Given the description of an element on the screen output the (x, y) to click on. 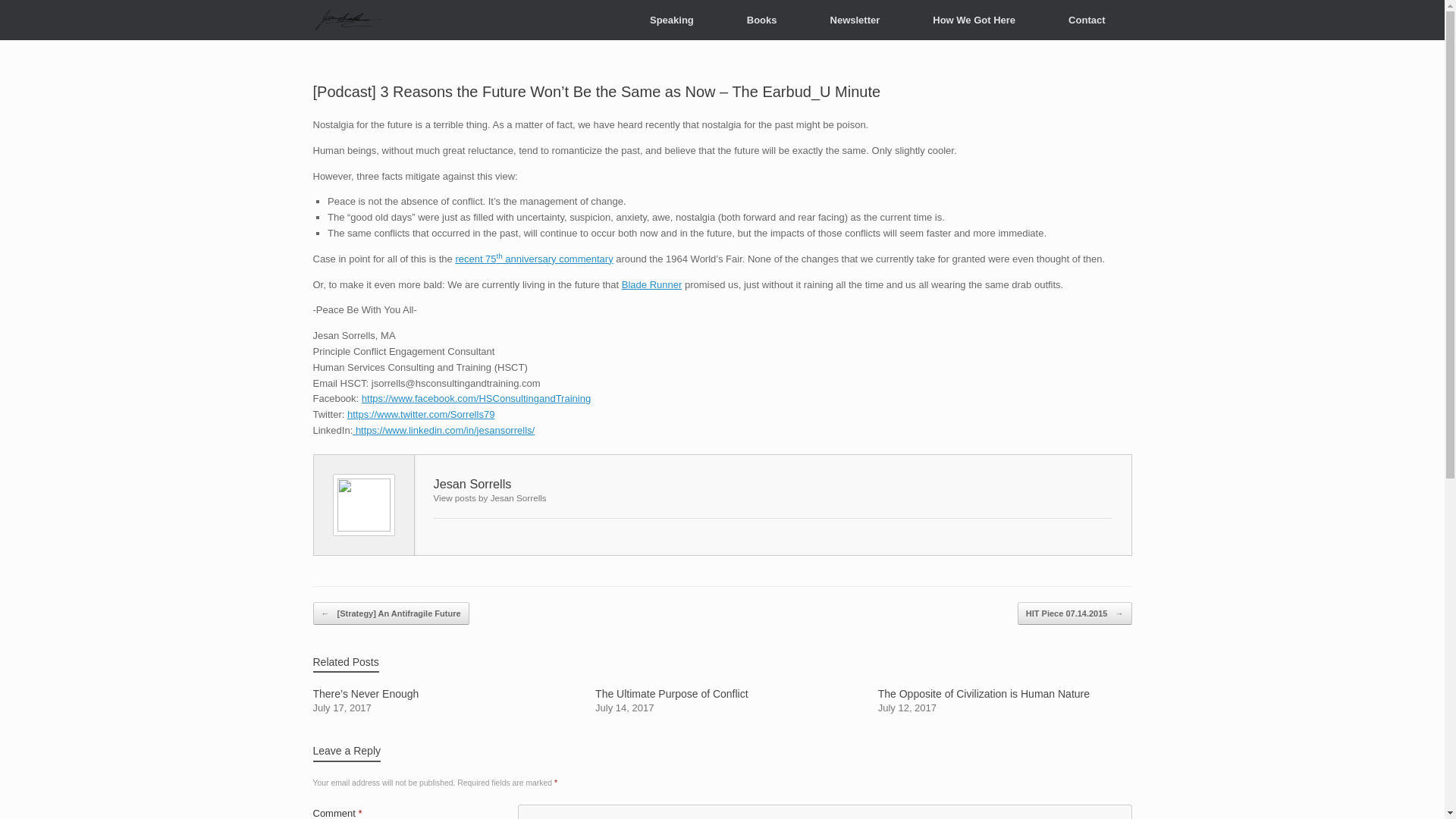
Contact (1086, 20)
The Ultimate Purpose of Conflict (721, 700)
View posts by Jesan Sorrells (490, 497)
Newsletter (855, 20)
Blade Runner (651, 284)
Books (761, 20)
The Opposite of Civilization is Human Nature (1004, 700)
Speaking (1004, 700)
recent 75th anniversary commentary (671, 20)
How We Got Here (721, 700)
